Given the description of an element on the screen output the (x, y) to click on. 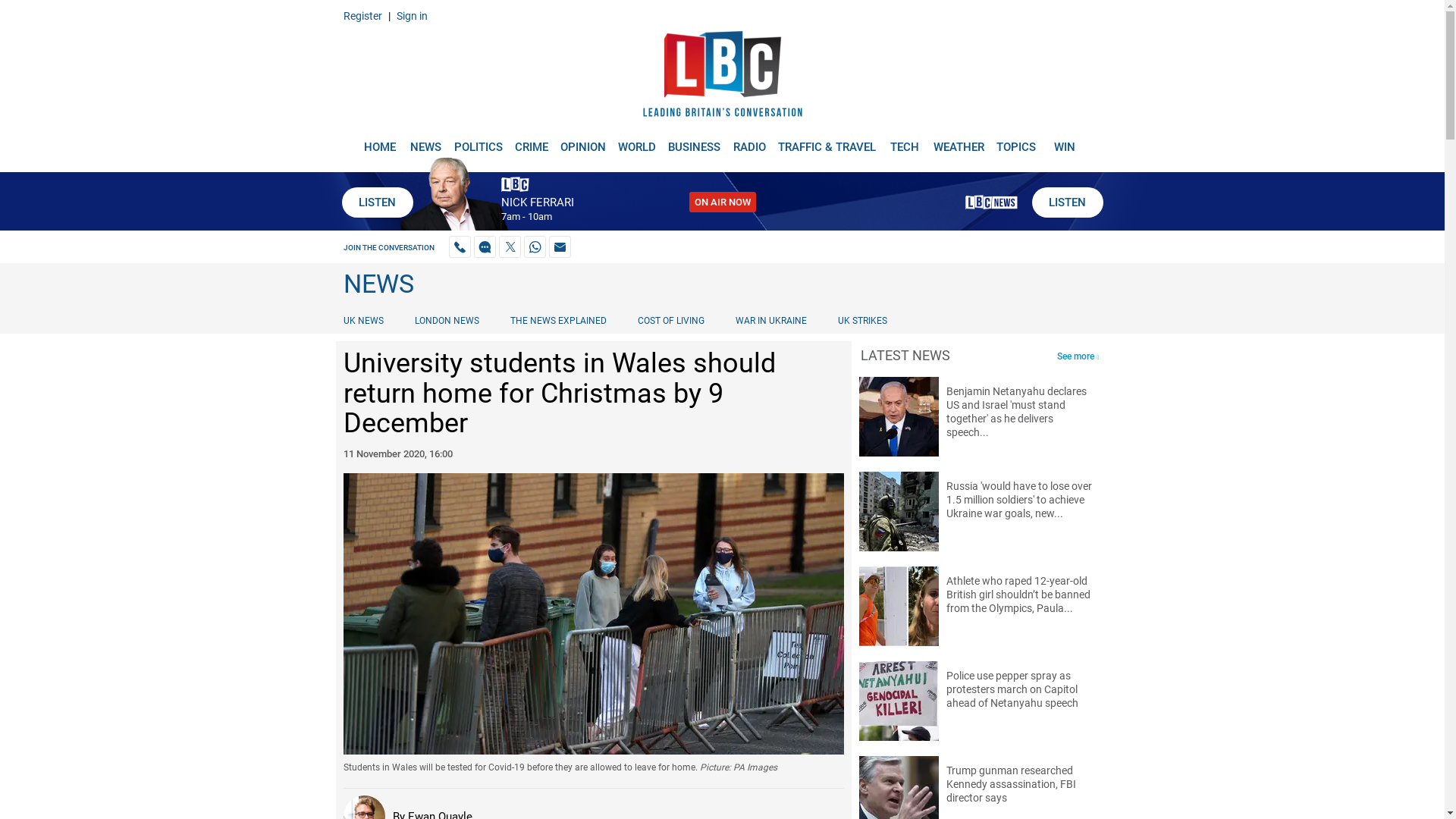
UK STRIKES (862, 320)
LBC (722, 77)
LISTEN (1066, 202)
NICK FERRARI (536, 202)
LISTEN (376, 202)
TOPICS (1016, 140)
HOME (379, 140)
RADIO (748, 140)
WEATHER (958, 140)
OPINION (582, 140)
COST OF LIVING (670, 320)
WAR IN UKRAINE (770, 320)
TECH (904, 140)
Register (361, 15)
POLITICS (478, 140)
